Given the description of an element on the screen output the (x, y) to click on. 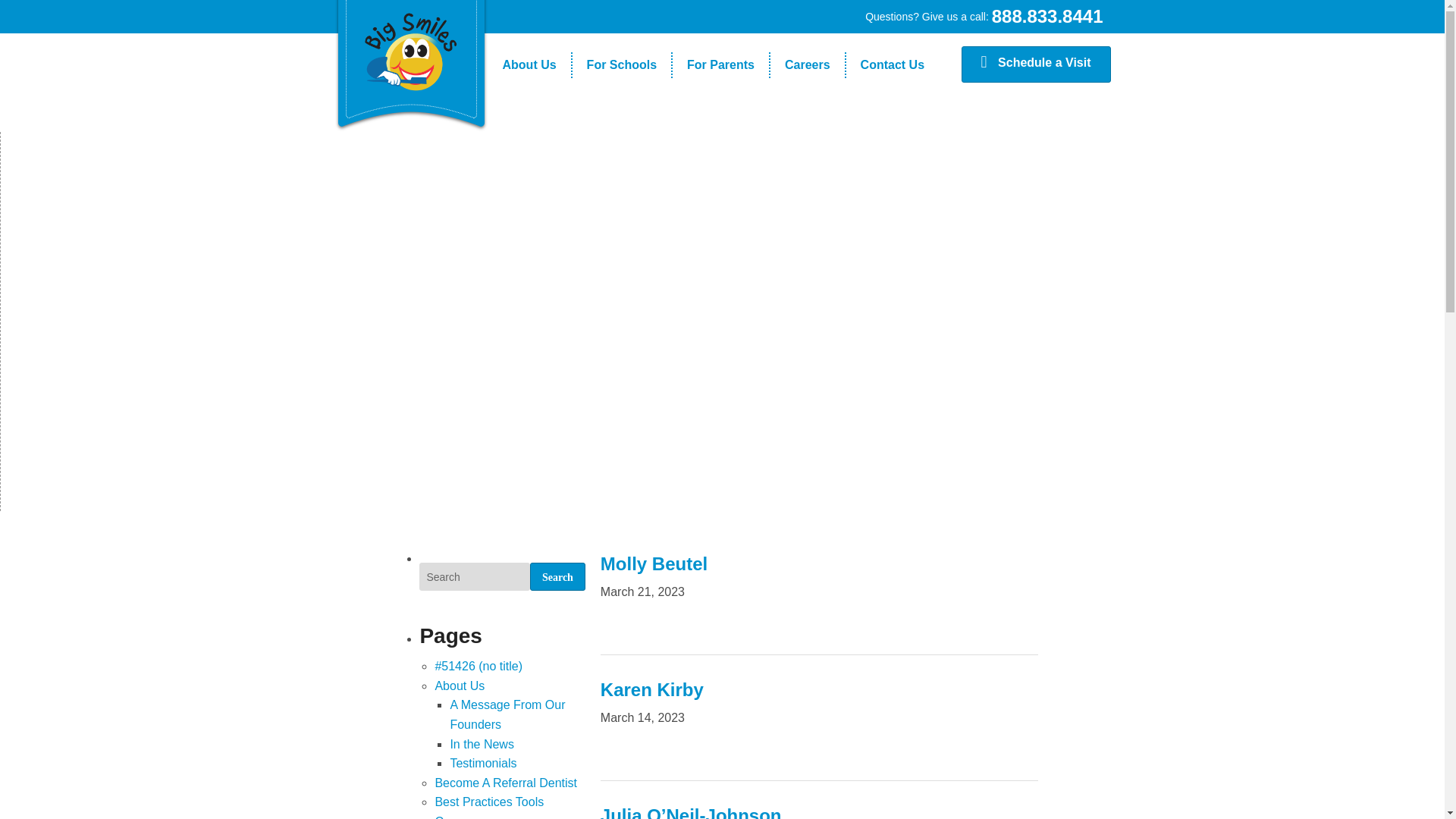
The Need (621, 90)
For Schools (621, 64)
Karen Kirby (651, 689)
About Us (528, 64)
Careers (807, 64)
Search (557, 576)
Referral Dentists (720, 142)
In the News (528, 116)
Request Dental Records (720, 167)
A Message From Our Founders (528, 90)
Meet the Dentists (720, 116)
Testimonials (621, 167)
Best Practices (621, 142)
Schedule a Visit (1035, 63)
offering in-school dental care (410, 49)
